Given the description of an element on the screen output the (x, y) to click on. 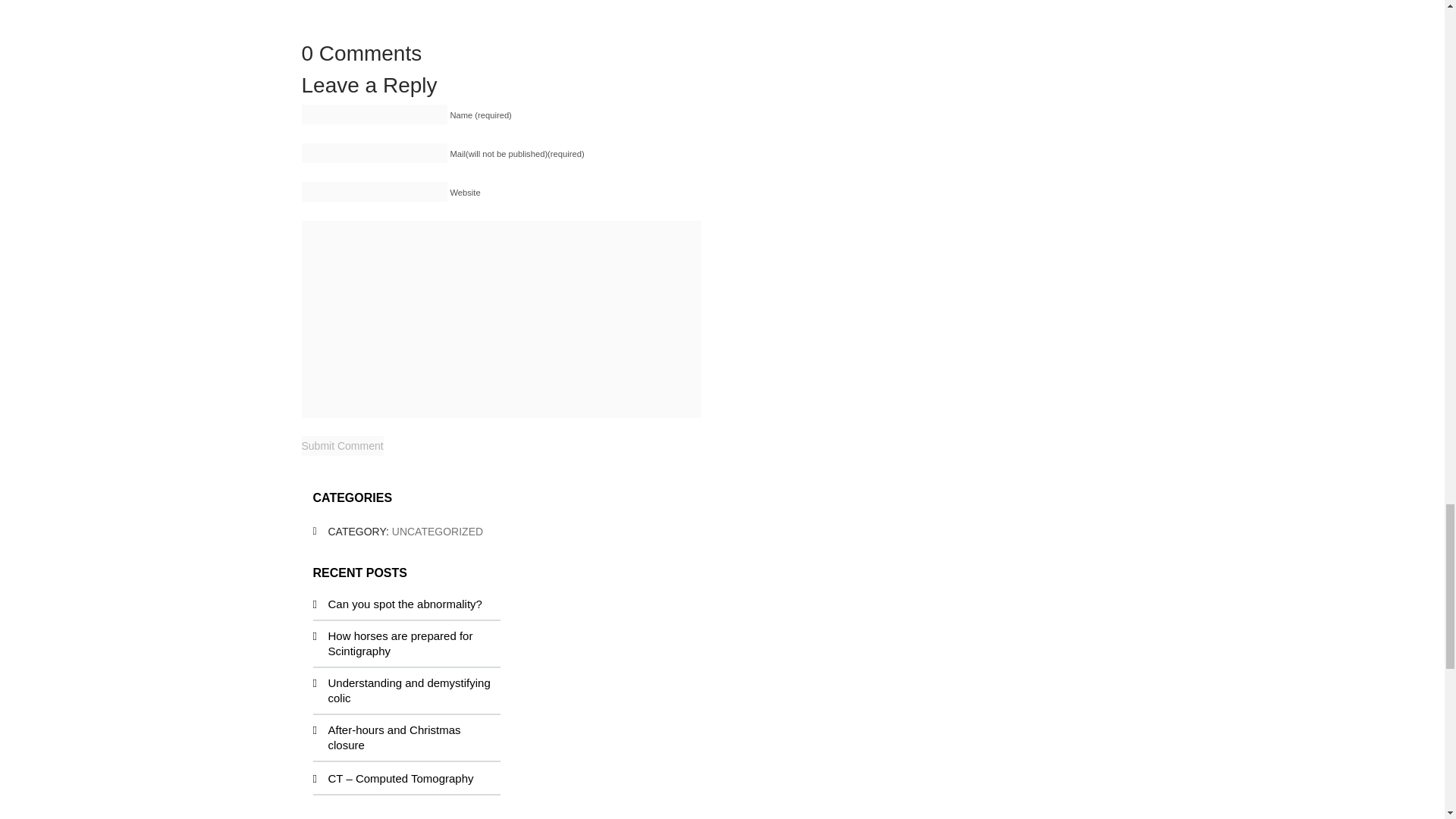
Submit Comment (342, 445)
Submit Comment (342, 445)
UNCATEGORIZED (437, 531)
Can you spot the abnormality? (404, 603)
How horses are prepared for Scintigraphy (399, 643)
After-hours and Christmas closure (393, 737)
Understanding and demystifying colic (408, 690)
